Given the description of an element on the screen output the (x, y) to click on. 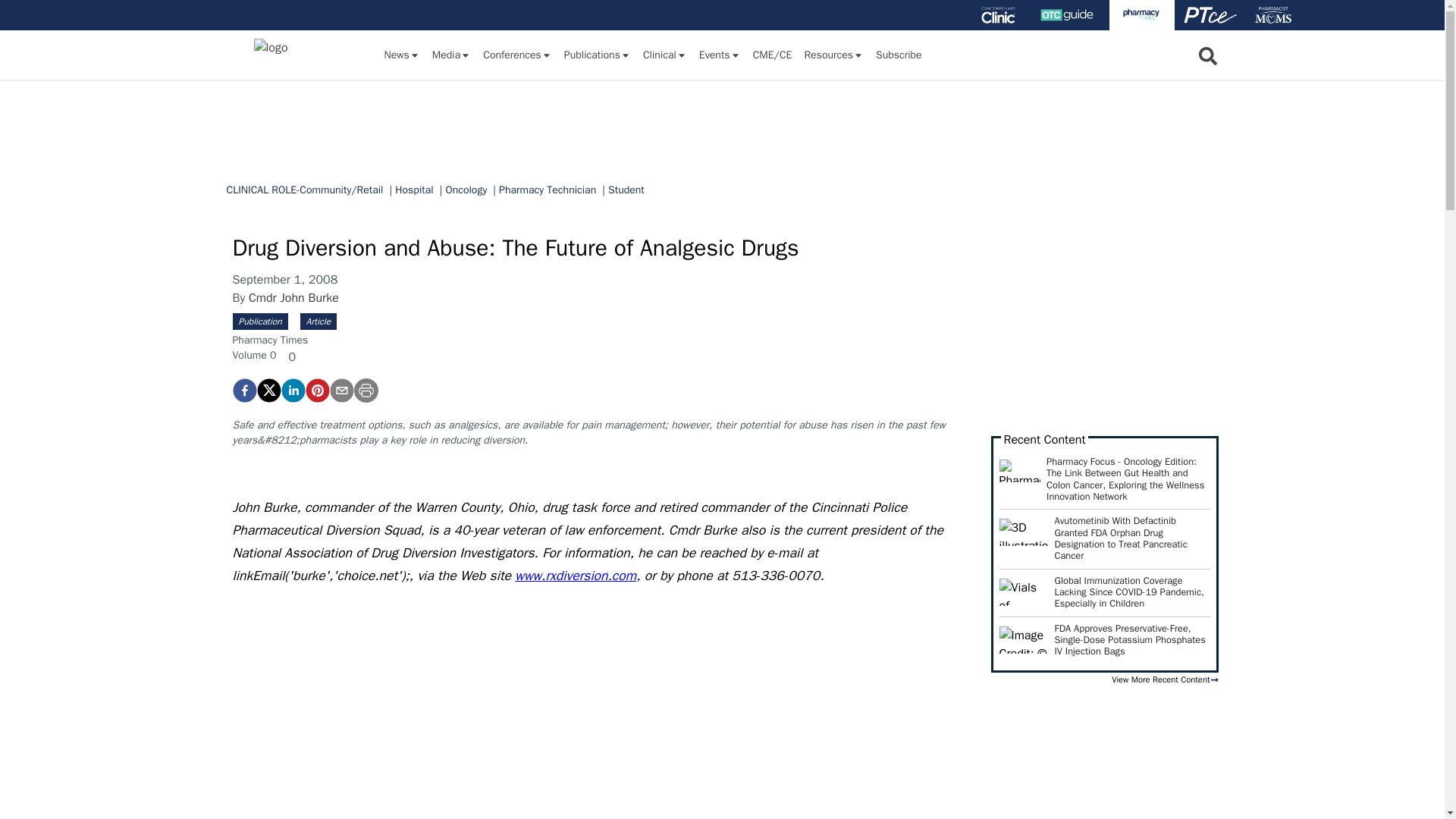
Drug Diversion and Abuse: The Future of Analgesic Drugs (243, 390)
3D illustration of pancreatic cancer. (1023, 532)
Drug Diversion and Abuse: The Future of Analgesic Drugs (316, 390)
